Given the description of an element on the screen output the (x, y) to click on. 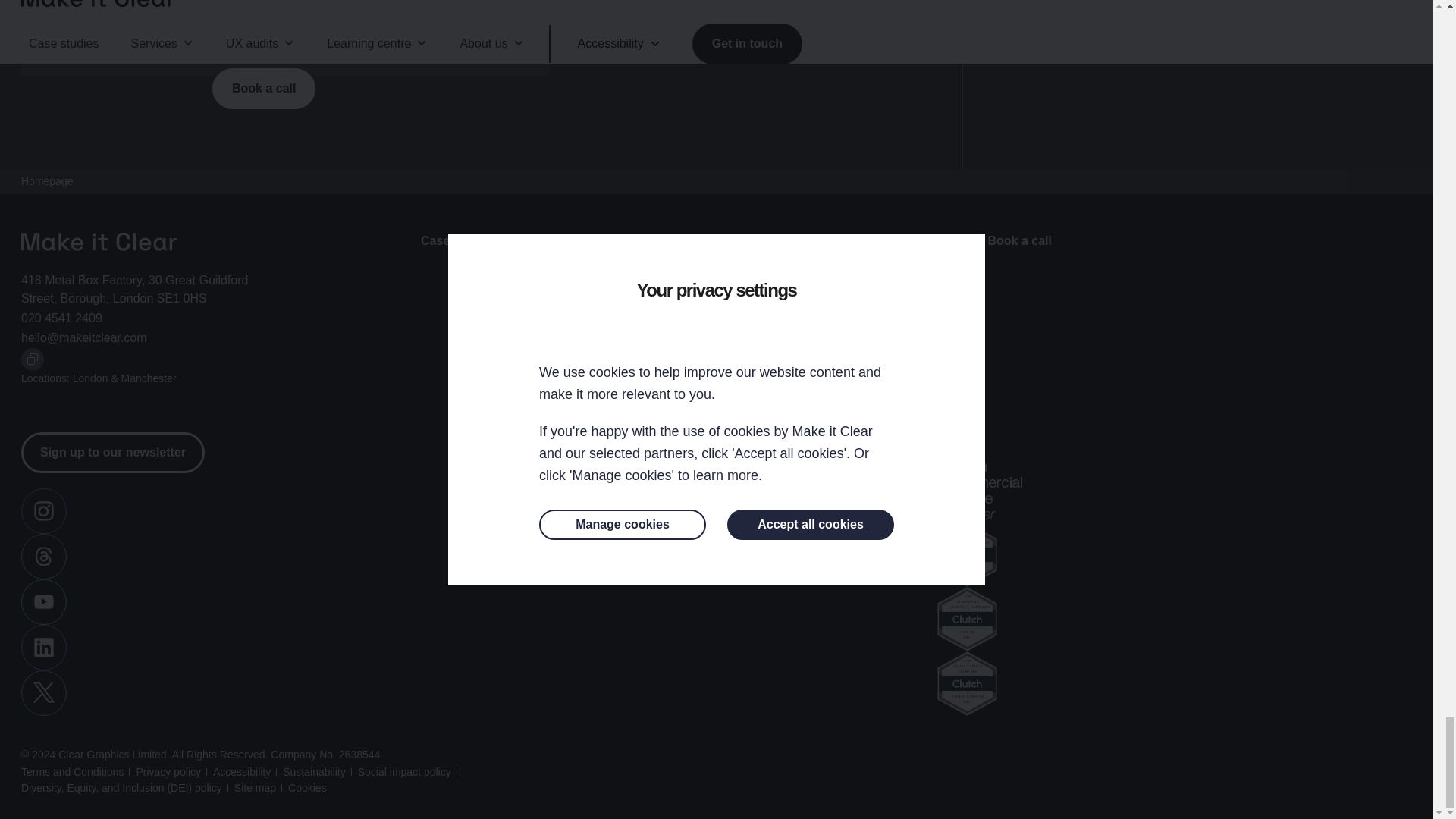
Top Clutch Marketing Strategy Company London 2023 (967, 619)
Top Clutch User Experience Company United Kingdom 2023 (967, 554)
Top Clutch Digital Design Company United Kingdom 2023 (967, 683)
